Given the description of an element on the screen output the (x, y) to click on. 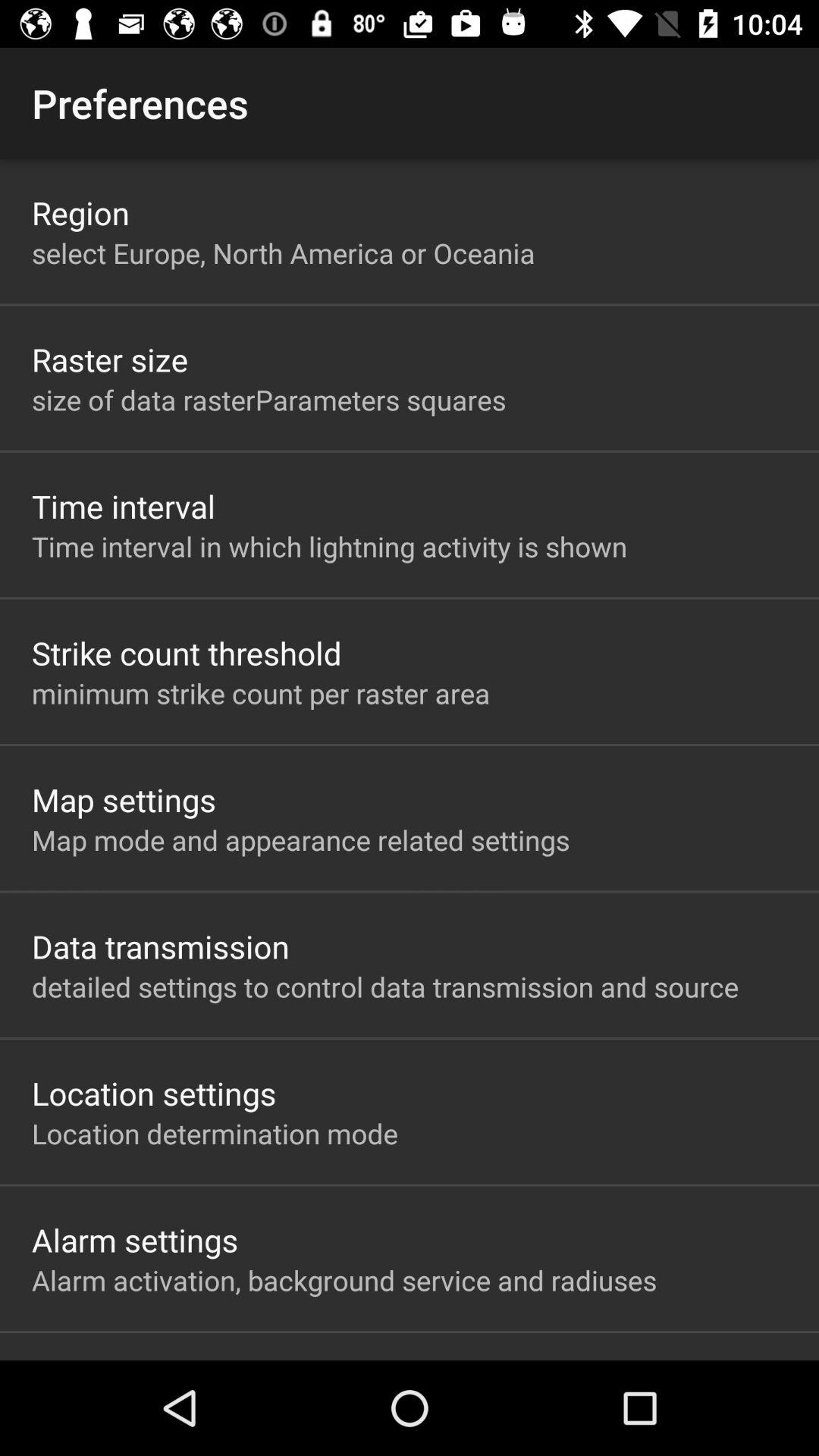
tap app below the data transmission (384, 986)
